Given the description of an element on the screen output the (x, y) to click on. 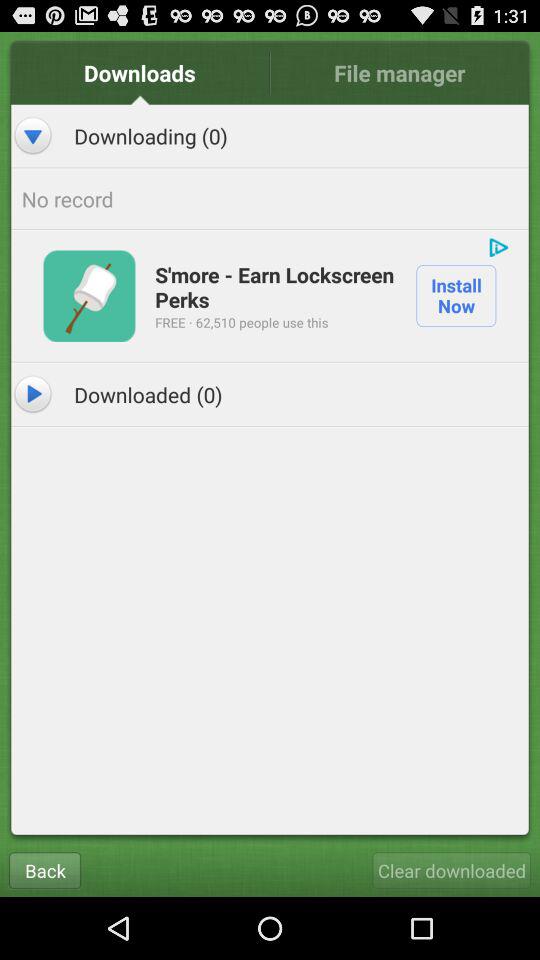
launch the app above the downloading (0) item (139, 72)
